Given the description of an element on the screen output the (x, y) to click on. 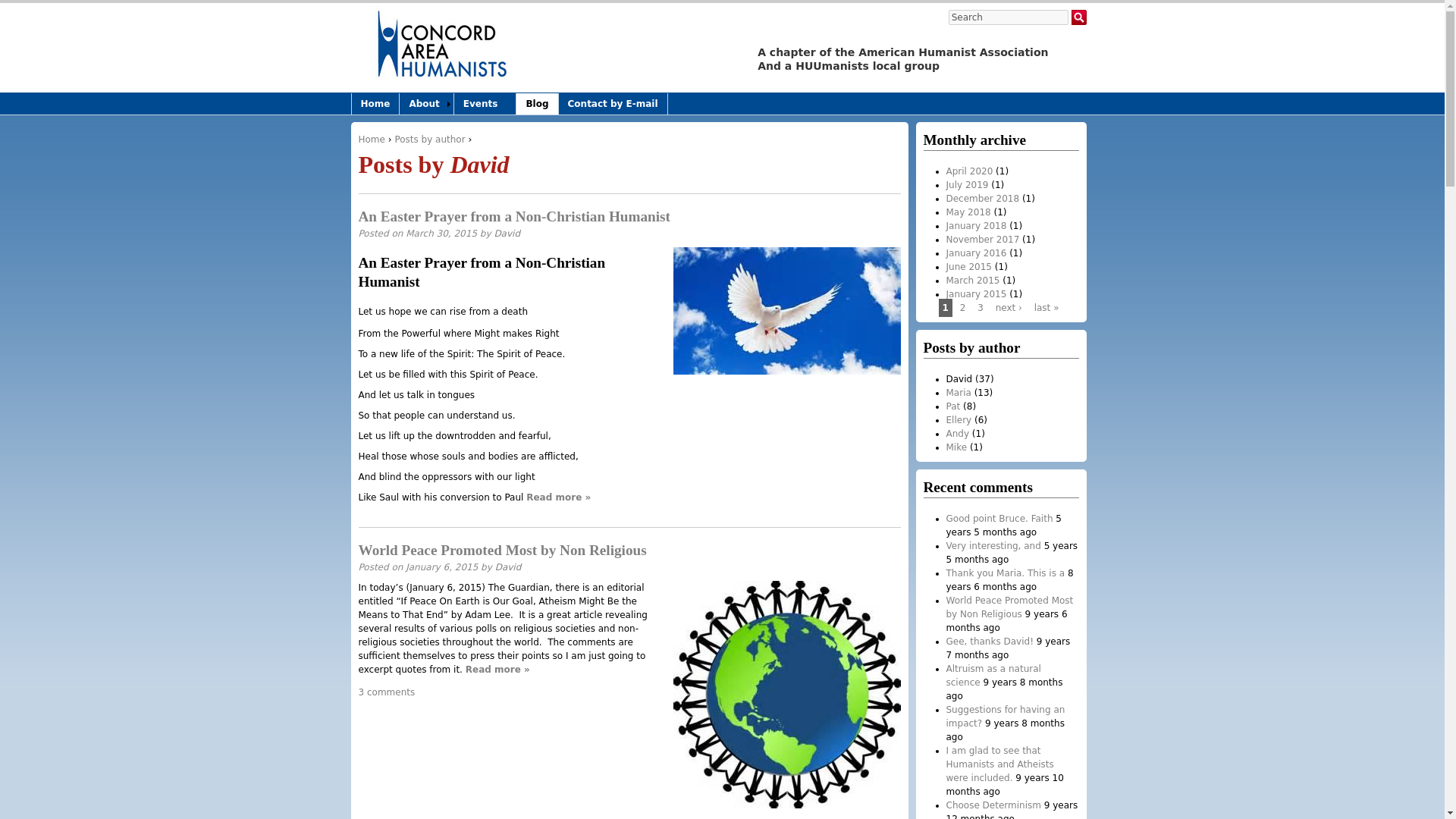
Dove (786, 310)
David (506, 233)
Enter the terms you wish to search for. (1008, 17)
Search (1008, 17)
World Peace Promoted Most by Non Religious (502, 549)
World Peace (786, 694)
Jump to the first comment of this posting. (386, 692)
Posts by author (429, 139)
Home (371, 139)
3 comments (386, 692)
David (508, 566)
An Easter Prayer from a Non-Christian Humanist (513, 216)
Home (440, 48)
